Given the description of an element on the screen output the (x, y) to click on. 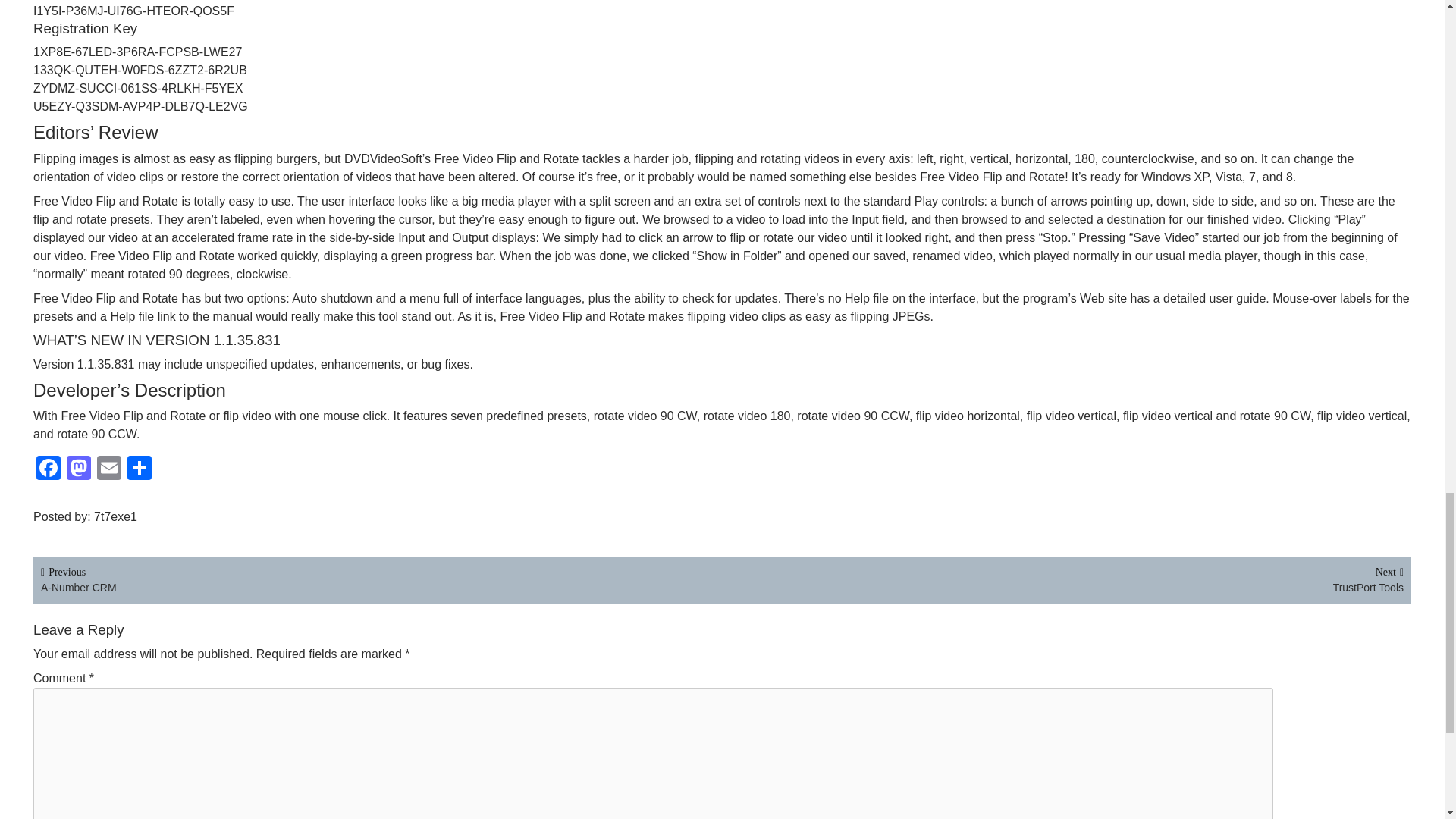
Facebook (48, 469)
Mastodon (79, 469)
Email (108, 469)
Facebook (48, 469)
Email (108, 469)
Mastodon (79, 469)
7t7exe1 (118, 516)
